Given the description of an element on the screen output the (x, y) to click on. 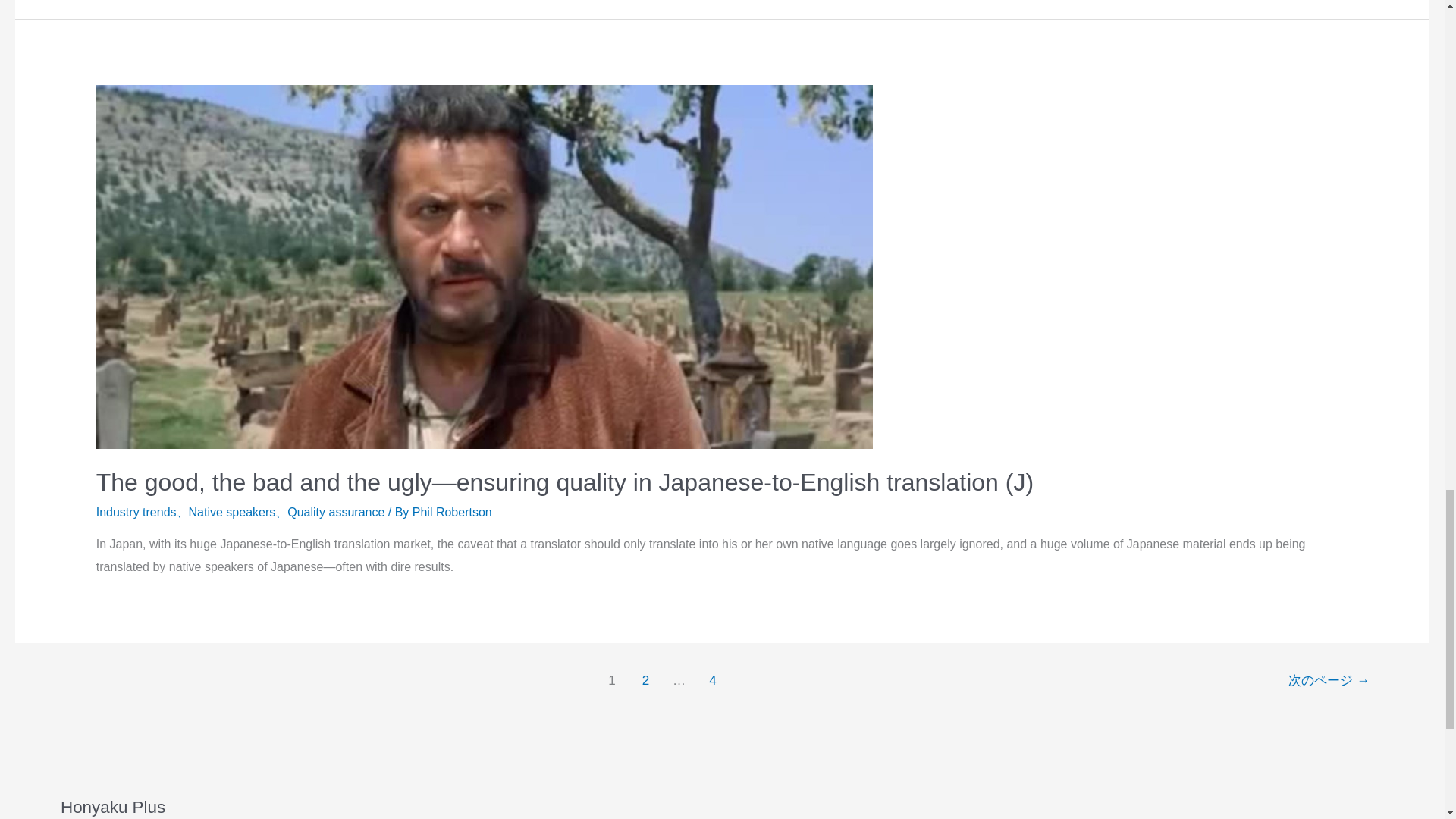
2 (645, 682)
4 (712, 682)
Native speakers (232, 512)
Phil Robertson (452, 512)
Quality assurance (335, 512)
Industry trends (136, 512)
